Given the description of an element on the screen output the (x, y) to click on. 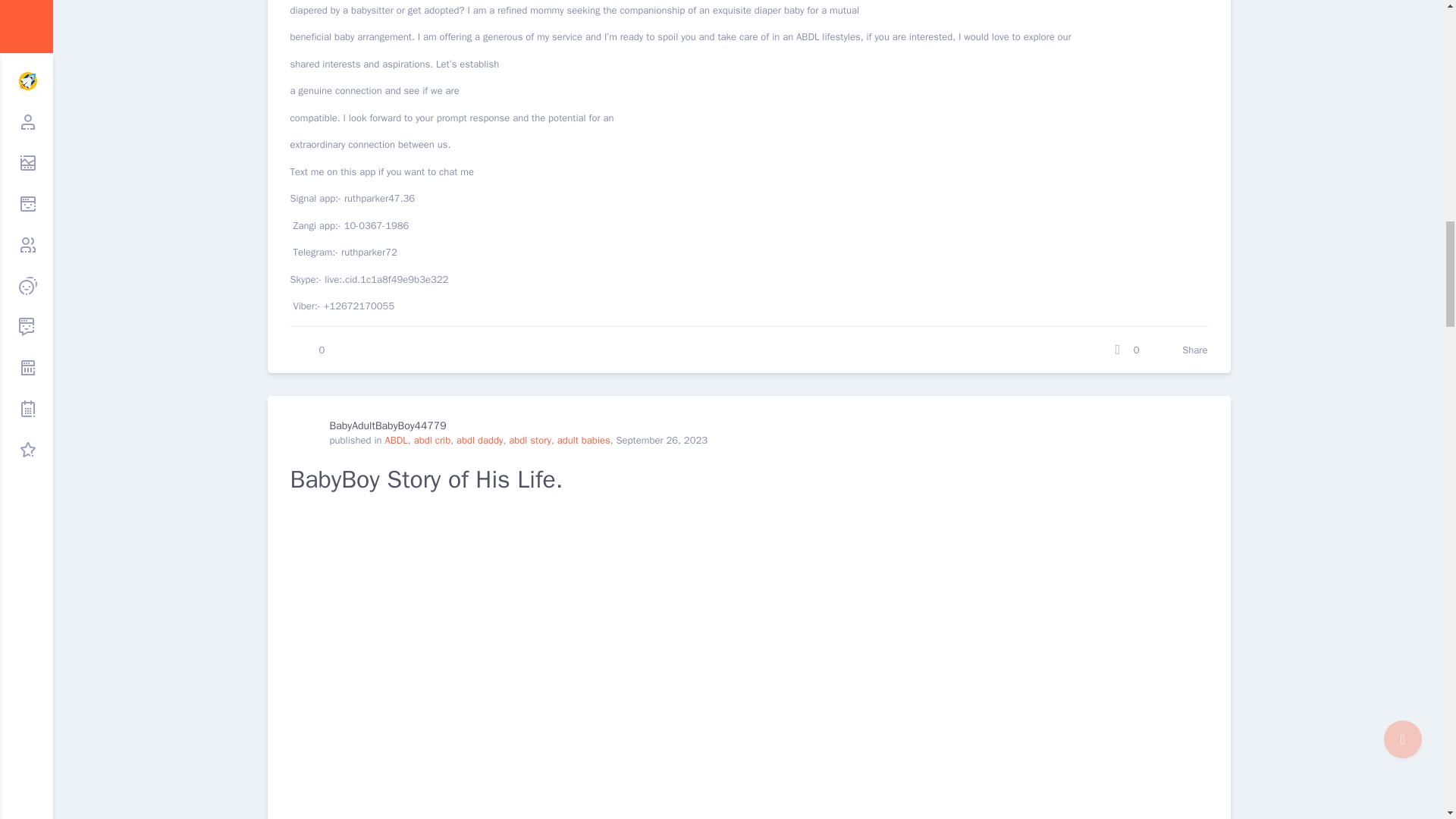
All posts from abdl daddy (480, 440)
All posts from ABDL (395, 440)
All posts from adult babies (583, 440)
All posts from abdl story (529, 440)
BabyBoy Story of His Life. 1 (493, 662)
All posts from abdl crib (432, 440)
